Given the description of an element on the screen output the (x, y) to click on. 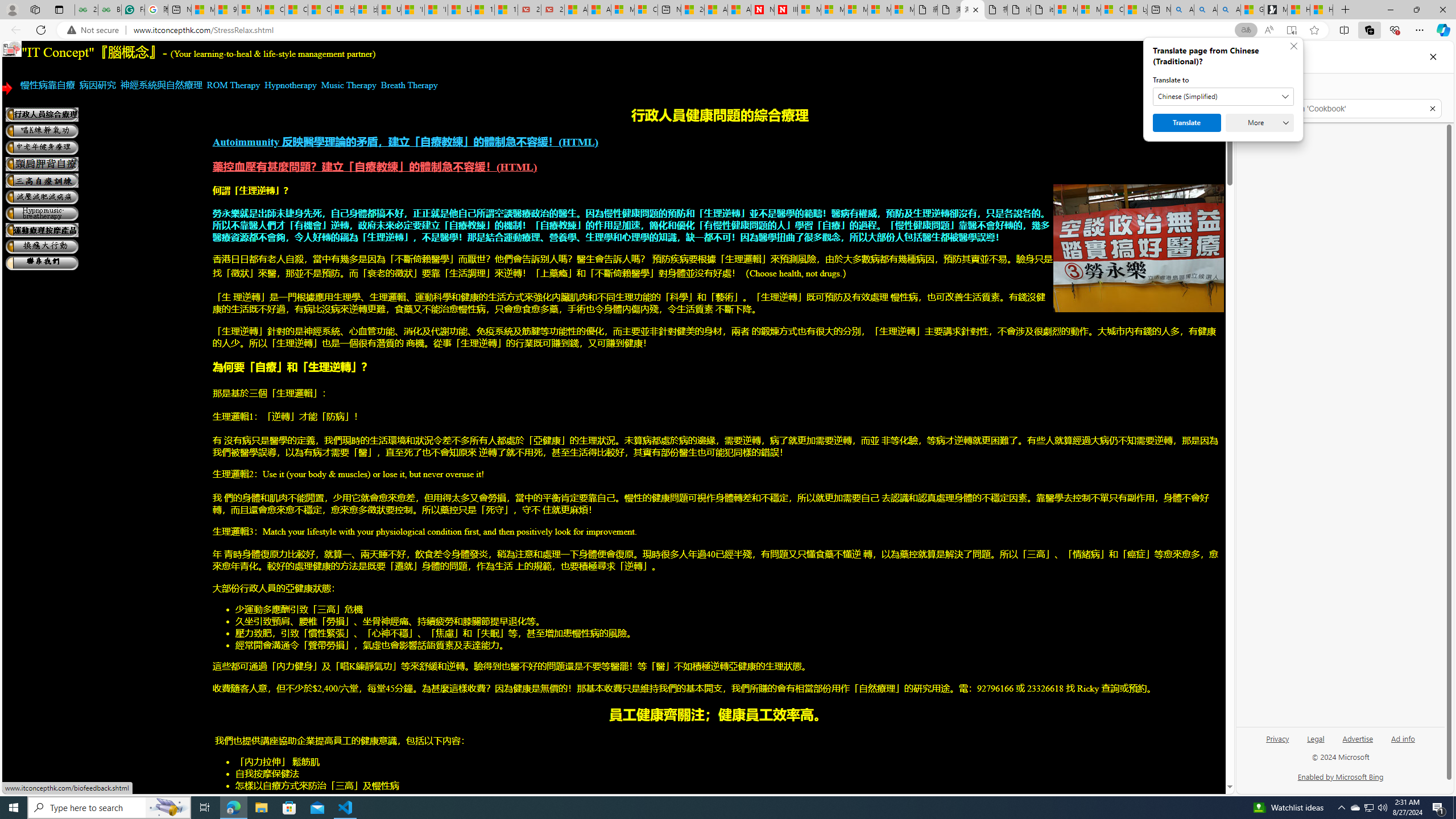
15 Ways Modern Life Contradicts the Teachings of Jesus (505, 9)
Consumer Health Data Privacy Policy (1112, 9)
Alabama high school quarterback dies - Search (1182, 9)
Music Therapy (349, 85)
21 Movies That Outdid the Books They Were Based On (552, 9)
